Given the description of an element on the screen output the (x, y) to click on. 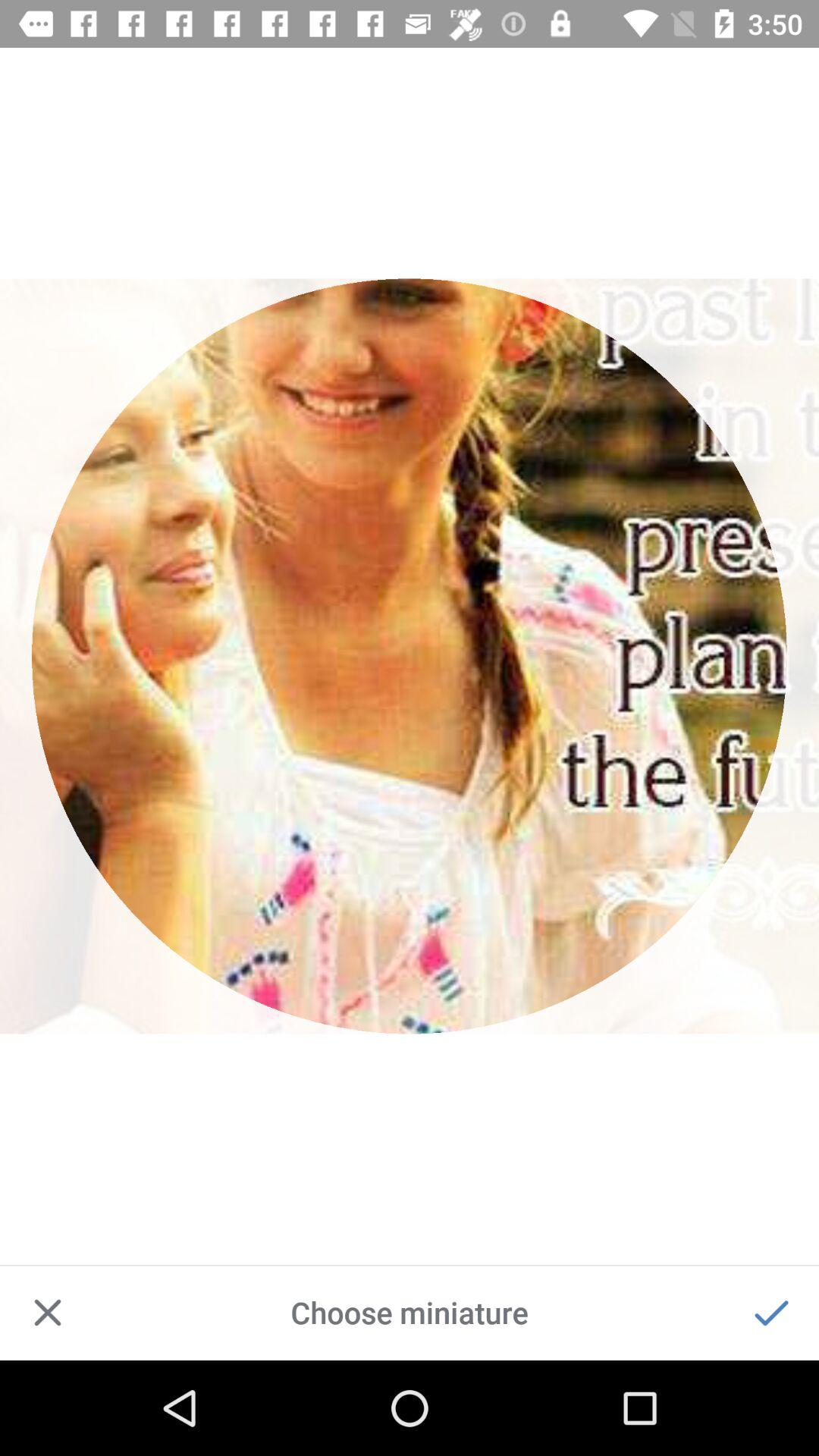
confirm choice (771, 1312)
